Given the description of an element on the screen output the (x, y) to click on. 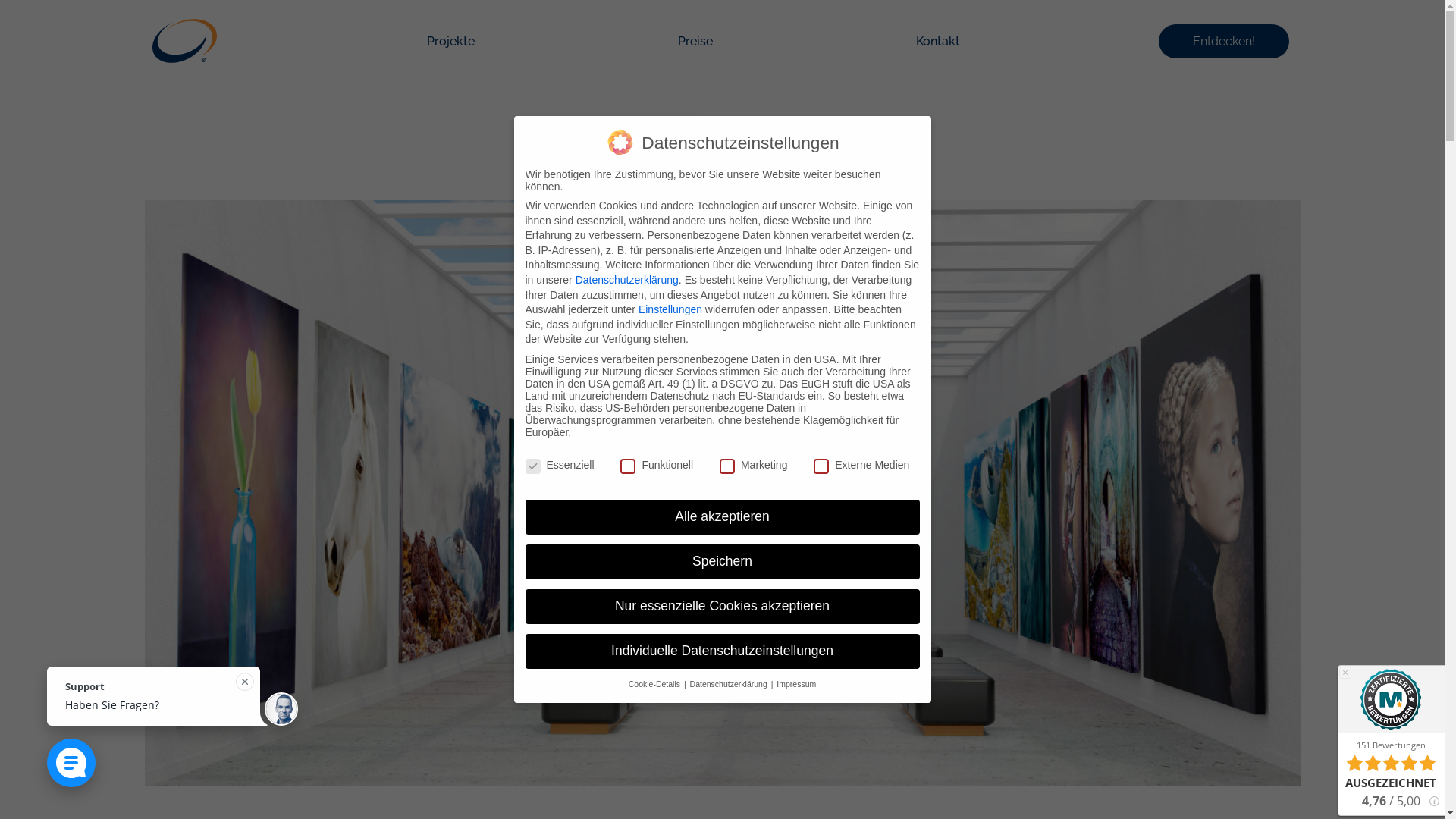
Alle akzeptieren Element type: text (721, 516)
Kontakt Element type: text (937, 40)
Message bubble Element type: hover (172, 702)
Preise Element type: text (695, 40)
Messenger button Element type: hover (71, 762)
Nur essenzielle Cookies akzeptieren Element type: text (721, 606)
Projekte Element type: text (450, 40)
Individuelle Datenschutzeinstellungen Element type: text (721, 650)
Echtheit der Bewertungen Element type: hover (1433, 801)
Entdecken! Element type: text (1223, 41)
Cookie-Details Element type: text (655, 683)
Speichern Element type: text (721, 561)
Einstellungen Element type: text (670, 309)
Impressum Element type: text (795, 683)
